Given the description of an element on the screen output the (x, y) to click on. 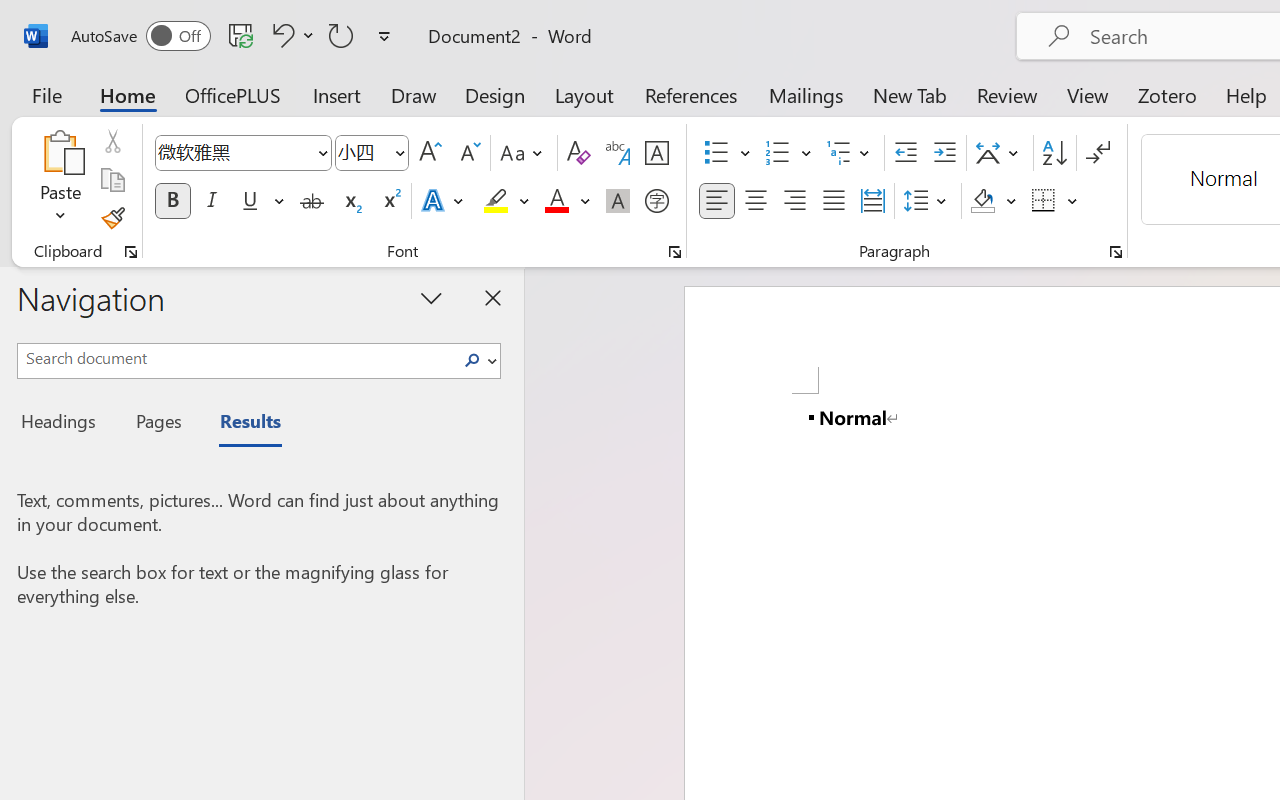
Bold (172, 201)
Repeat Doc Close (341, 35)
Shading (993, 201)
Underline (261, 201)
Bullets (716, 153)
Numbering (788, 153)
Grow Font (430, 153)
Paste (60, 179)
Show/Hide Editing Marks (1098, 153)
Text Highlight Color Yellow (495, 201)
Customize Quick Access Toolbar (384, 35)
Sort... (1054, 153)
Italic (212, 201)
